Given the description of an element on the screen output the (x, y) to click on. 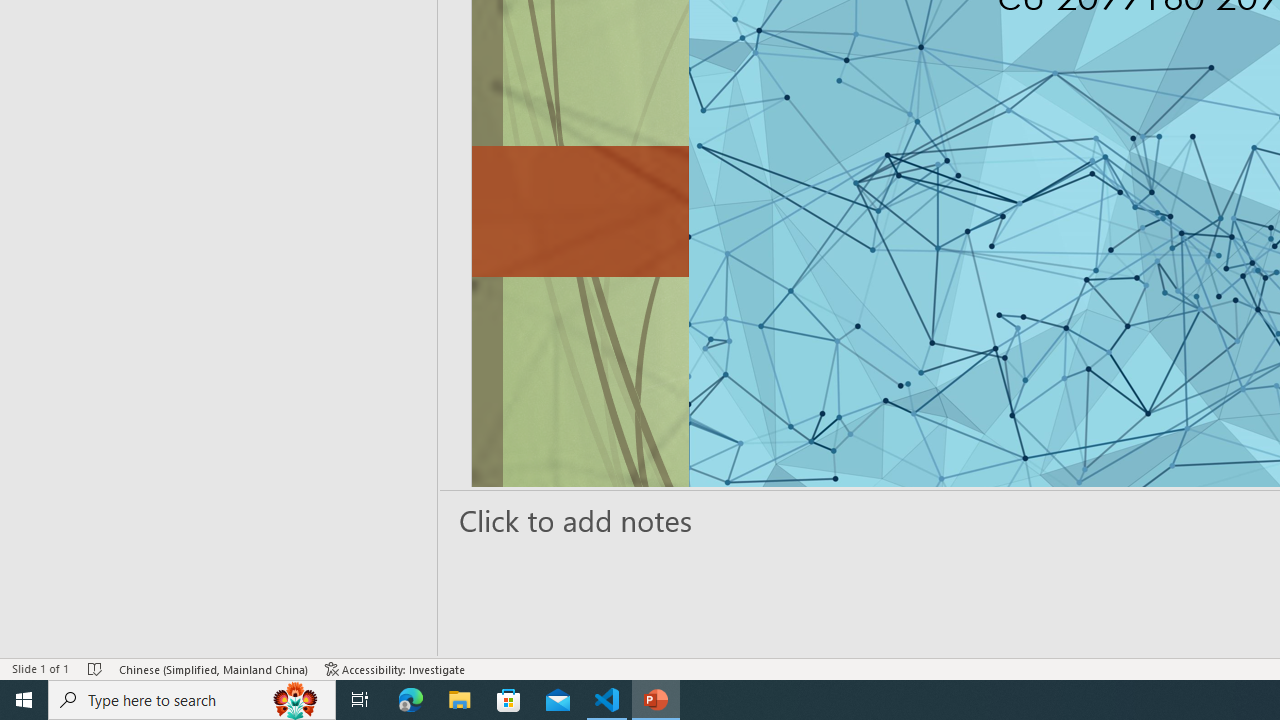
Spell Check No Errors (95, 668)
Accessibility Checker Accessibility: Investigate (395, 668)
